Given the description of an element on the screen output the (x, y) to click on. 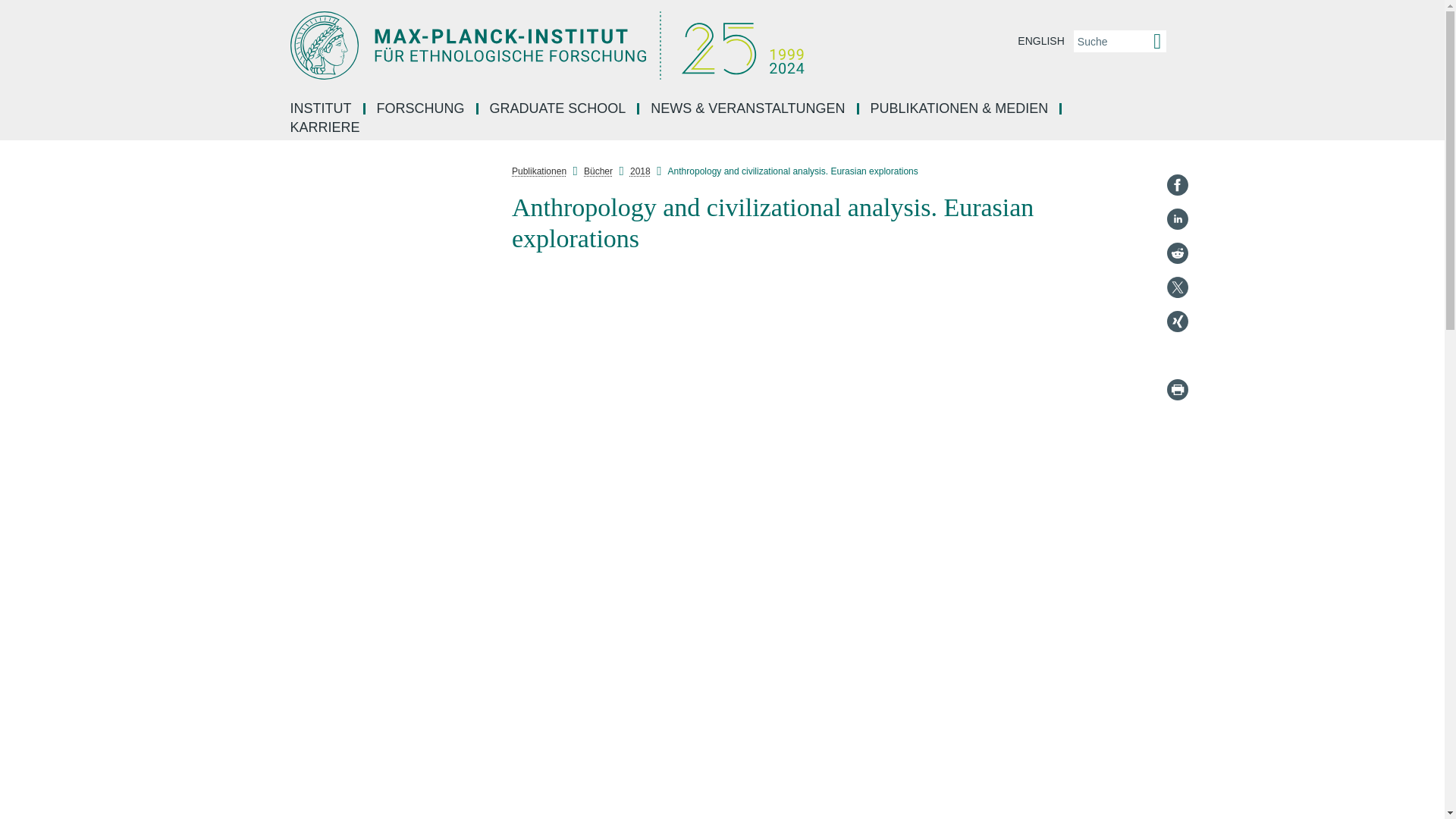
Facebook (1177, 184)
LinkedIn (1177, 219)
ENGLISH (1039, 41)
Print (1177, 389)
Reddit (1177, 252)
E-Mail (1177, 354)
FORSCHUNG (422, 108)
INSTITUT (322, 108)
Twitter (1177, 287)
Xing (1177, 321)
